Given the description of an element on the screen output the (x, y) to click on. 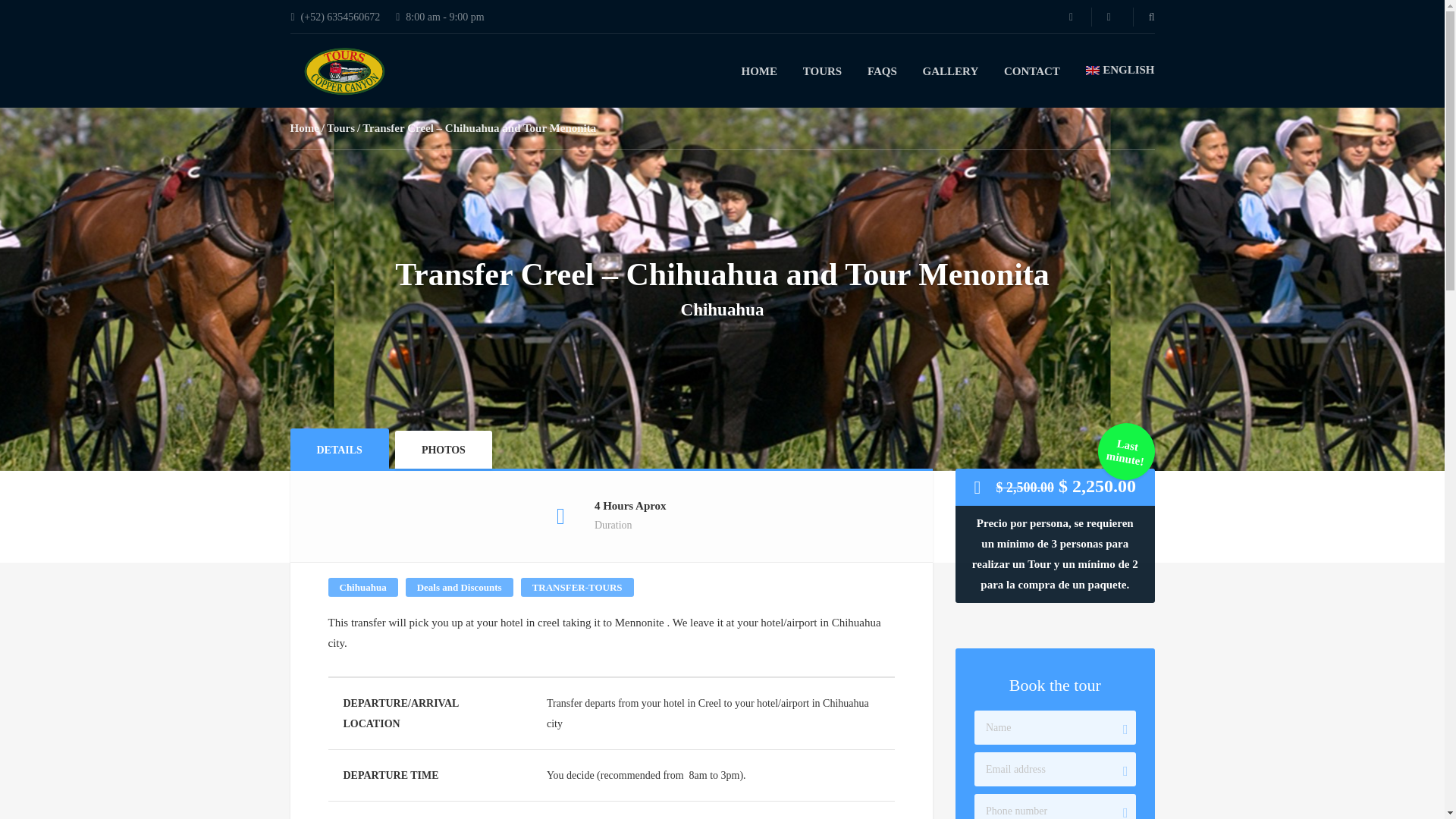
TOURS (822, 70)
HOME (759, 70)
Agencia Turistica (340, 71)
English (1120, 70)
